Given the description of an element on the screen output the (x, y) to click on. 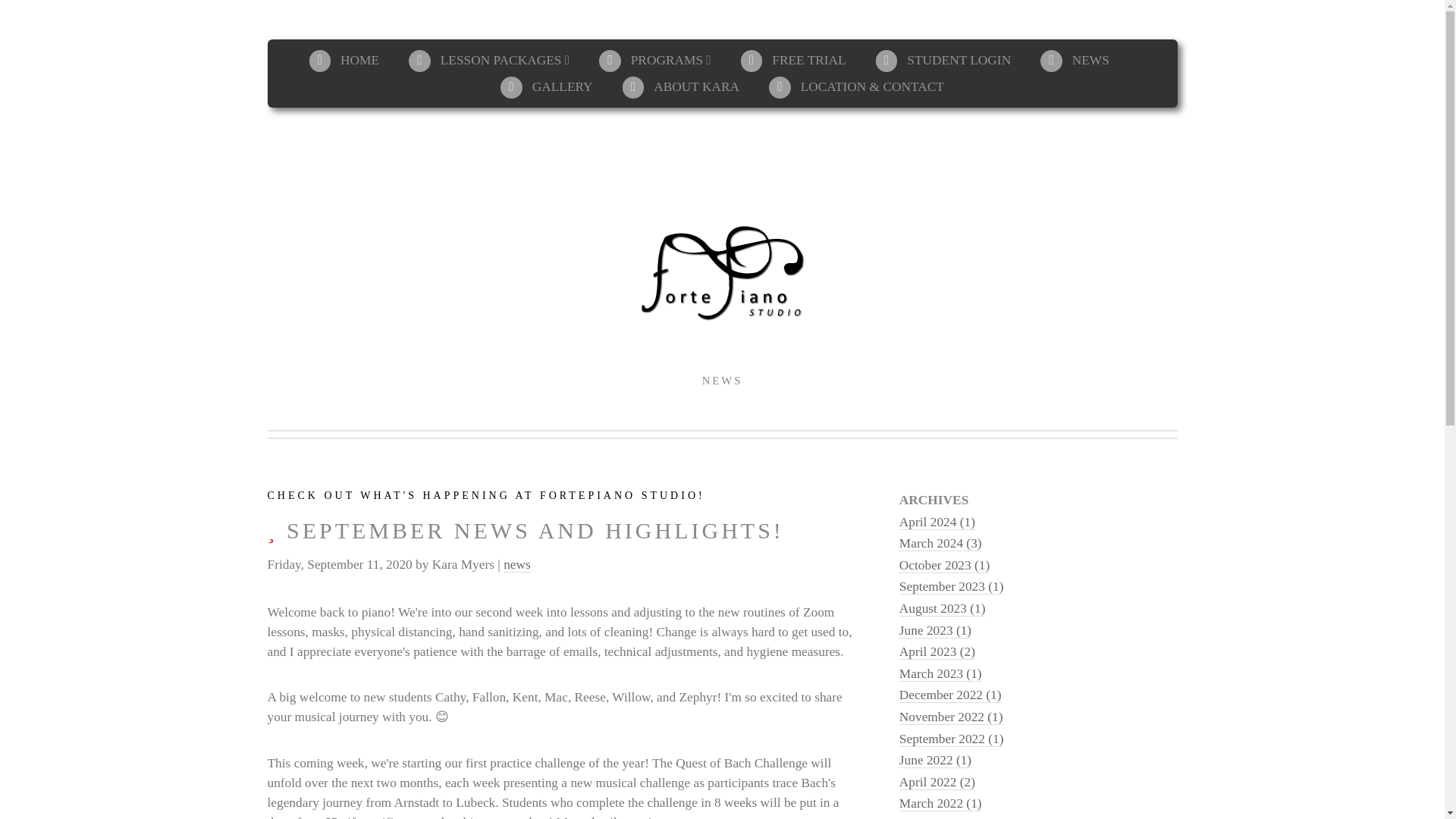
news (517, 564)
FREE TRIAL (793, 59)
GALLERY (546, 86)
NEWS (1075, 59)
STUDENT LOGIN (943, 59)
HOME (344, 59)
SEPTEMBER NEWS AND HIGHLIGHTS! (563, 531)
PROGRAMS (654, 59)
LESSON PACKAGES (489, 59)
ABOUT KARA (681, 86)
